Given the description of an element on the screen output the (x, y) to click on. 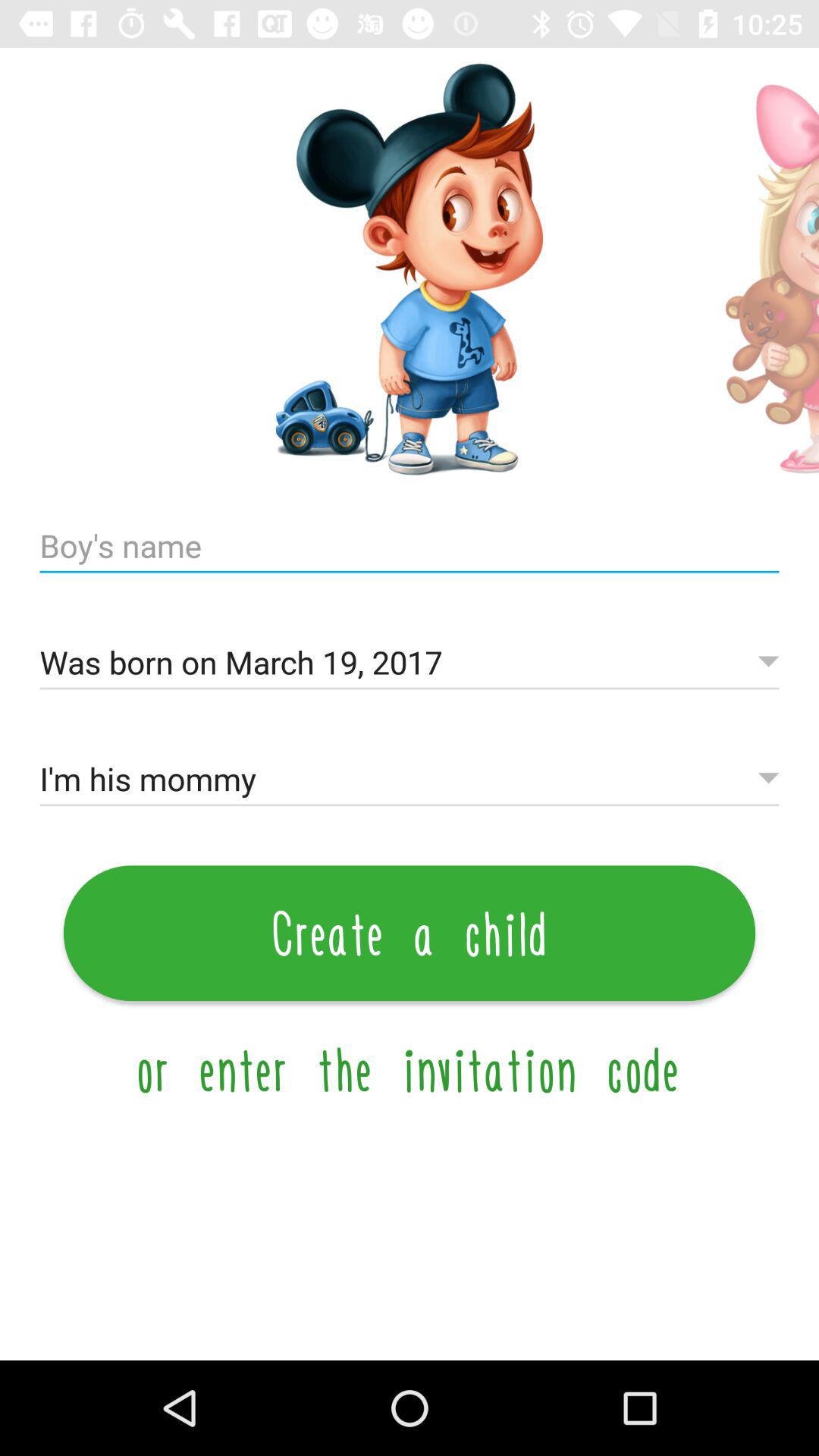
turn off the item above the was born on (409, 545)
